Given the description of an element on the screen output the (x, y) to click on. 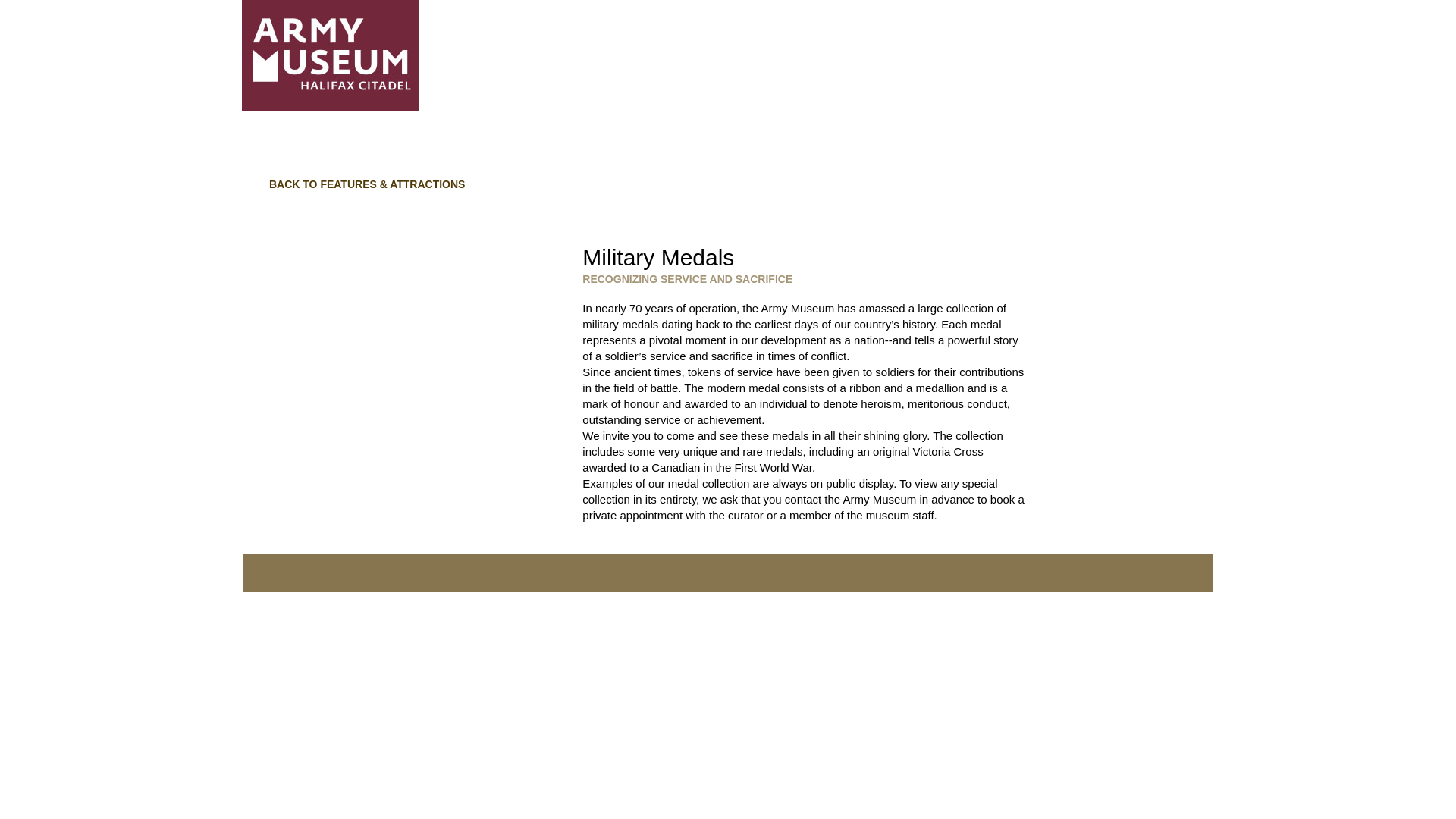
FEATURES & ATTRACTIONS Element type: text (847, 149)
VISITING Element type: text (566, 149)
BACK TO FEATURES & ATTRACTIONS Element type: text (366, 184)
SUPPORT US Element type: text (985, 149)
HOME Element type: text (448, 149)
SPECIAL COLLECTIONS Element type: text (678, 149)
ABOUT Element type: text (503, 149)
